Given the description of an element on the screen output the (x, y) to click on. 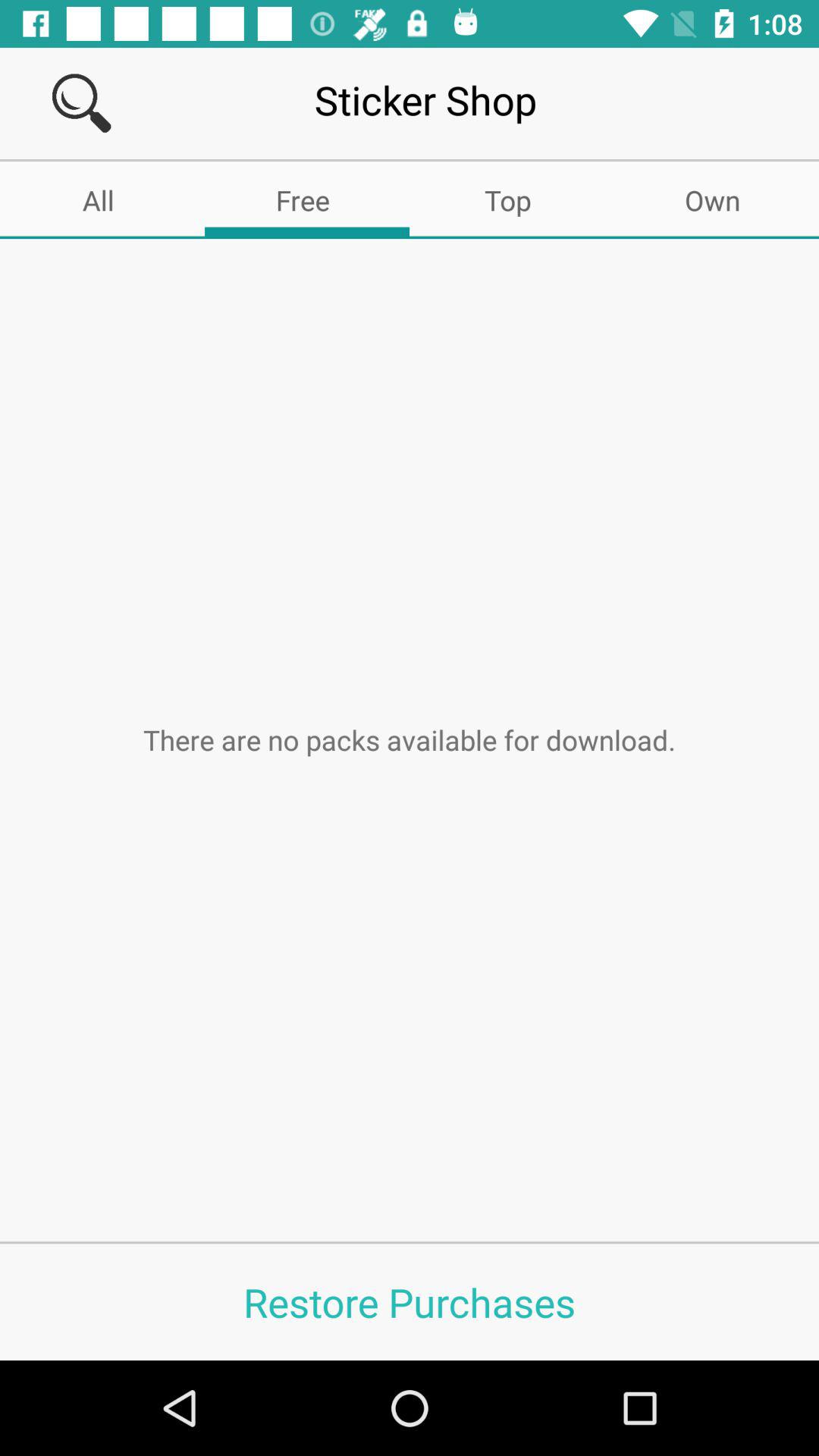
go to search (81, 103)
